Given the description of an element on the screen output the (x, y) to click on. 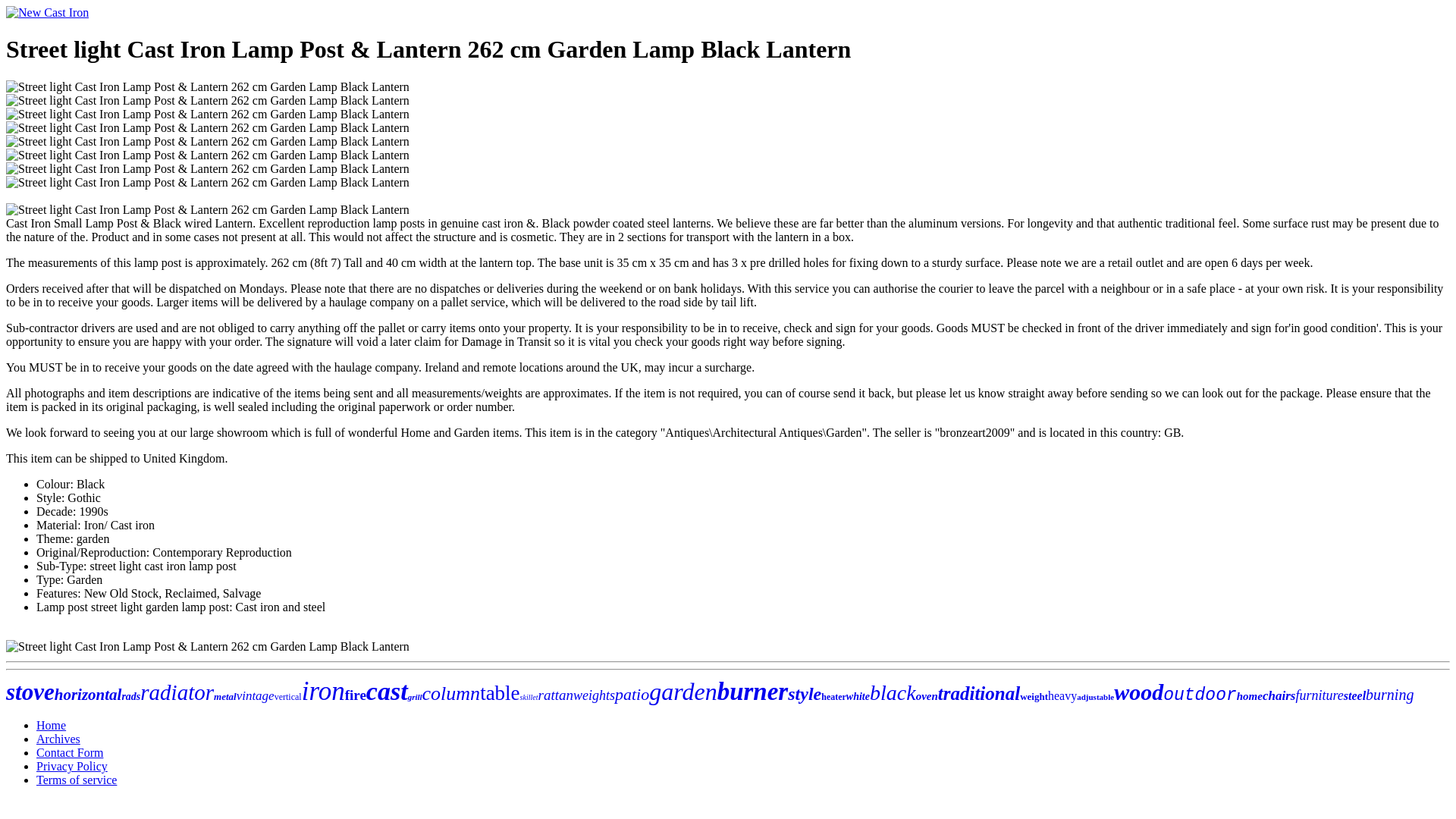
stove (30, 691)
style (804, 693)
adjustable (1095, 696)
garden (682, 691)
traditional (978, 693)
weights (593, 694)
skillet (528, 696)
metal (224, 696)
table (499, 692)
radiator (176, 692)
